Given the description of an element on the screen output the (x, y) to click on. 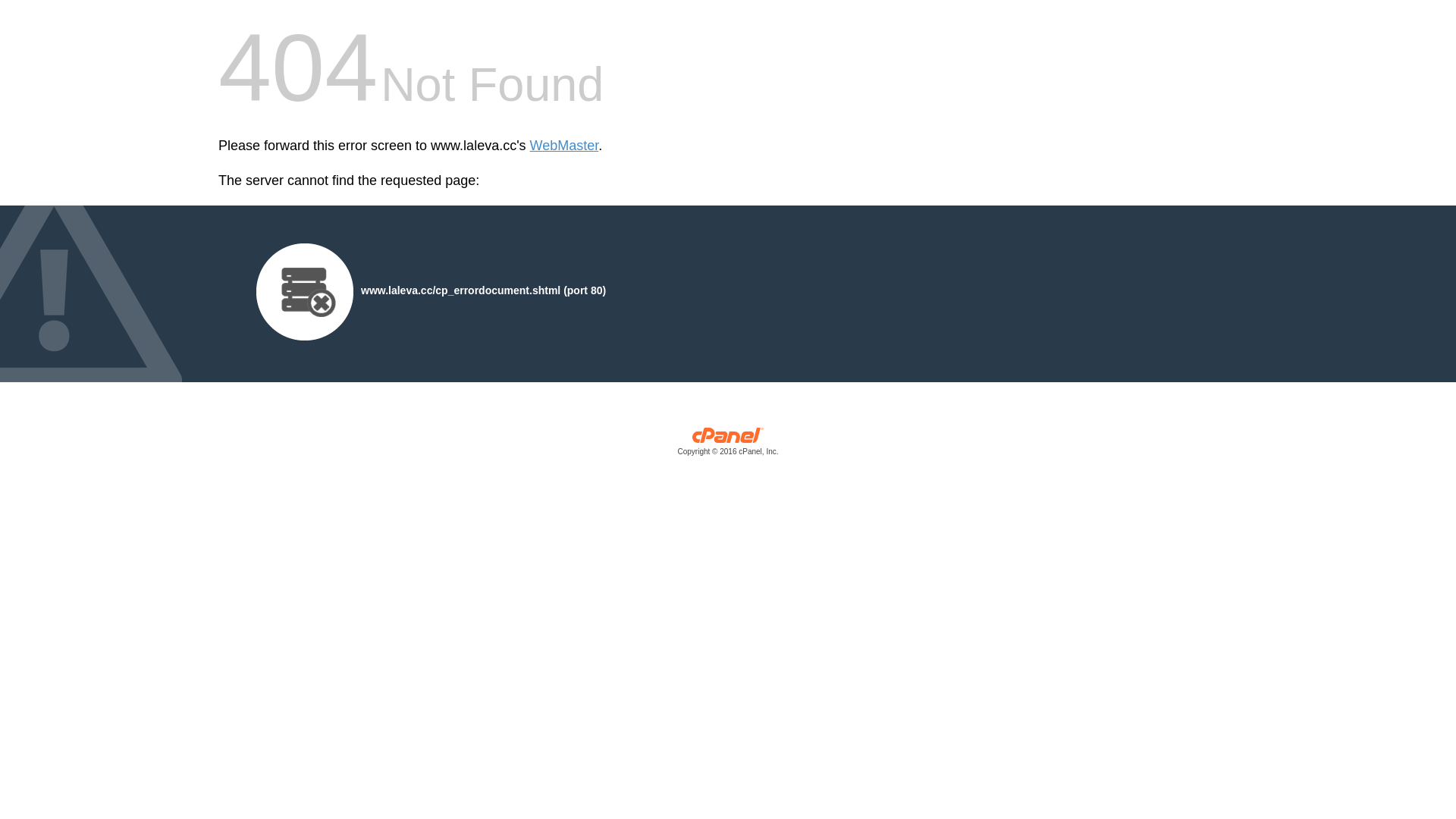
WebMaster Element type: text (564, 145)
